Given the description of an element on the screen output the (x, y) to click on. 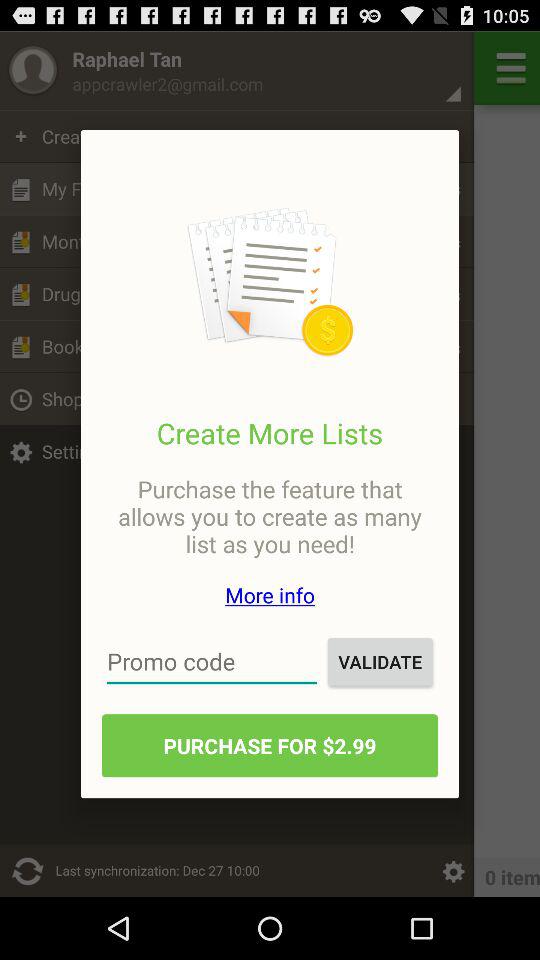
input code (212, 661)
